Given the description of an element on the screen output the (x, y) to click on. 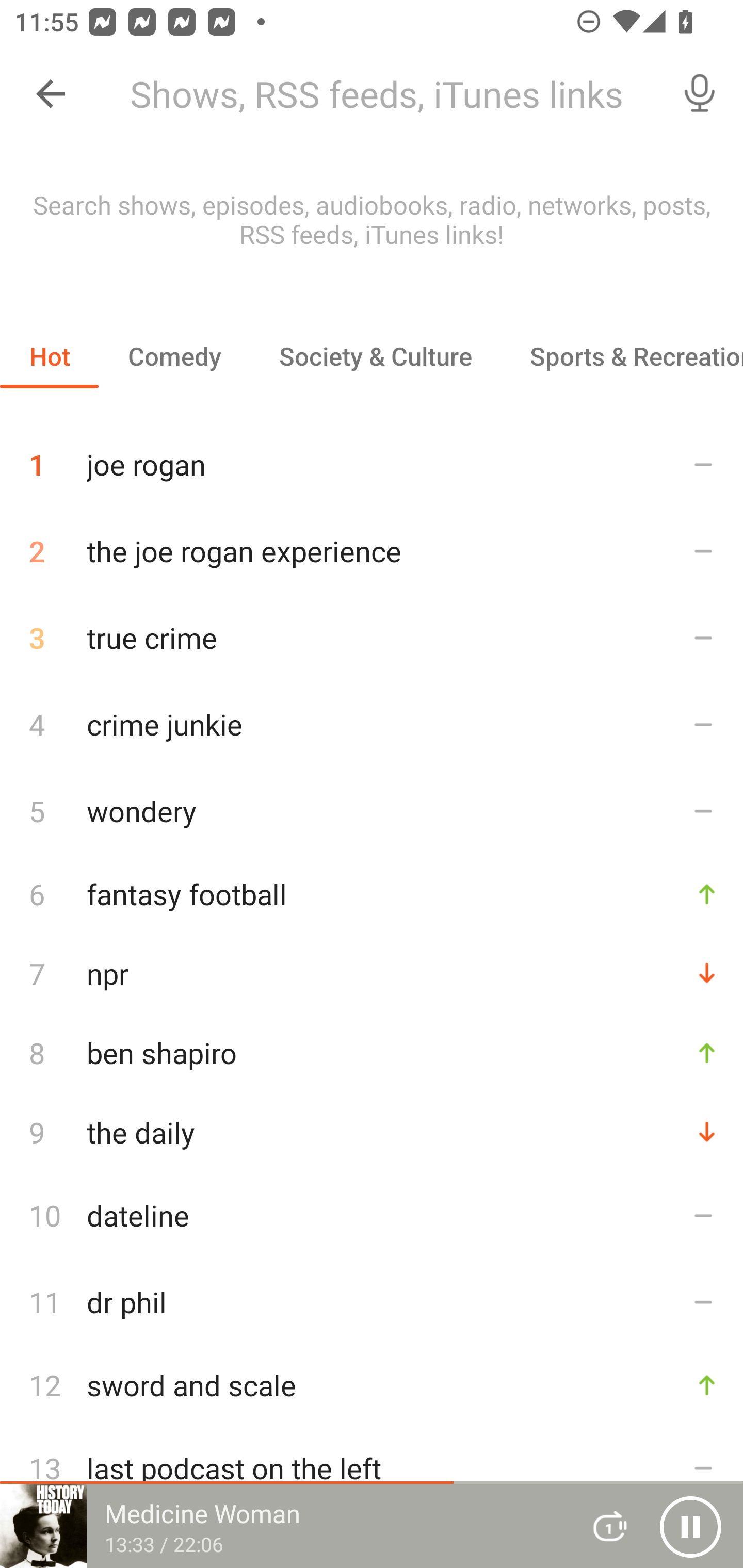
Collapse (50, 93)
Voice Search (699, 93)
Shows, RSS feeds, iTunes links (385, 94)
Hot (49, 355)
Comedy (173, 355)
Society & Culture (374, 355)
Sports & Recreation (621, 355)
1 joe rogan (371, 457)
2 the joe rogan experience (371, 551)
3 true crime (371, 637)
4 crime junkie (371, 723)
5 wondery (371, 810)
6 fantasy football (371, 893)
7 npr (371, 972)
8 ben shapiro (371, 1052)
9 the daily (371, 1131)
10 dateline (371, 1215)
11 dr phil (371, 1302)
12 sword and scale (371, 1385)
13 last podcast on the left (371, 1468)
Medicine Woman 13:33 / 22:06 (283, 1525)
Pause (690, 1526)
